Given the description of an element on the screen output the (x, y) to click on. 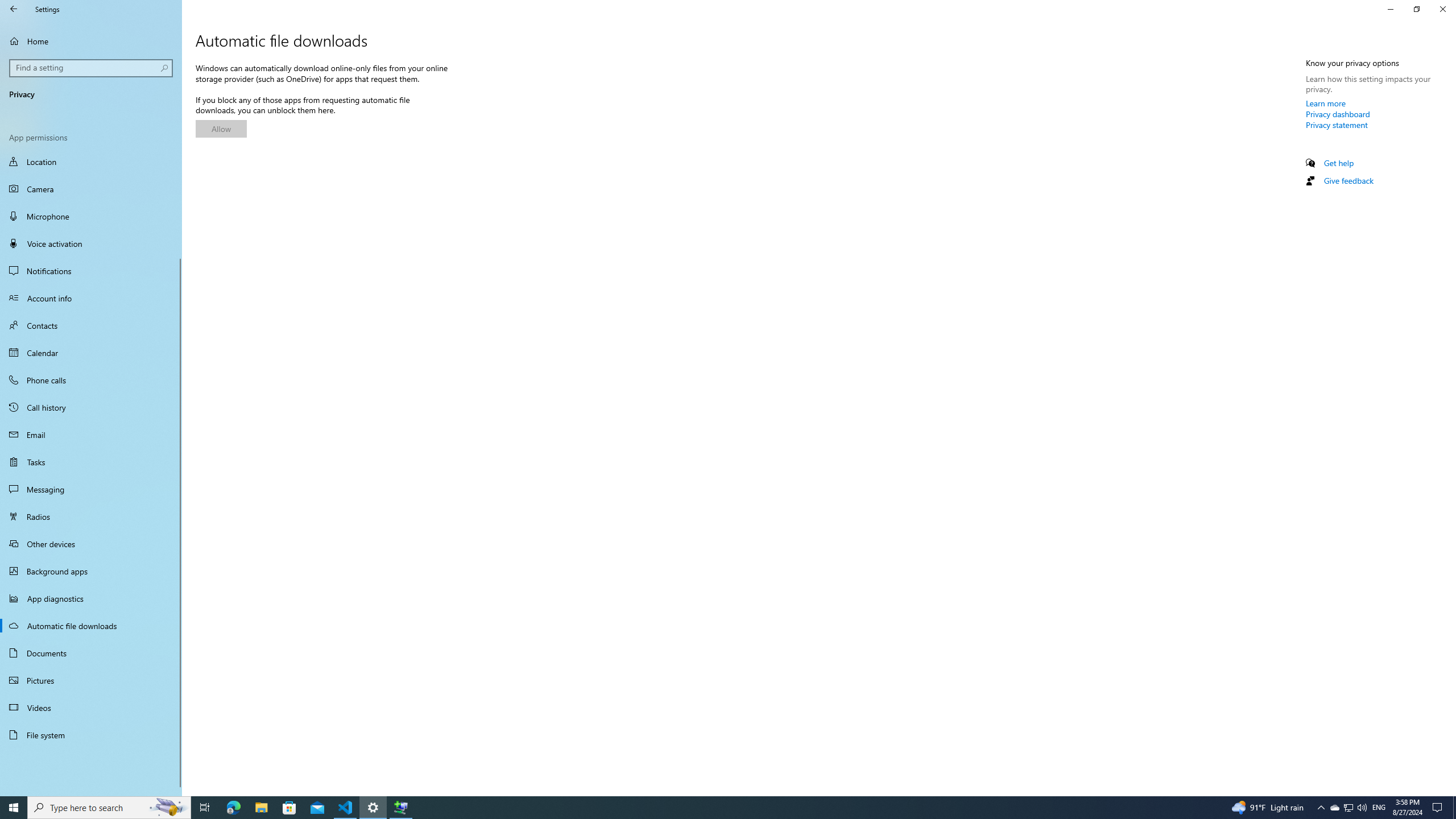
Give feedback (1348, 180)
File system (91, 734)
Calendar (91, 352)
Messaging (91, 488)
Voice activation (91, 243)
Notifications (91, 270)
